Given the description of an element on the screen output the (x, y) to click on. 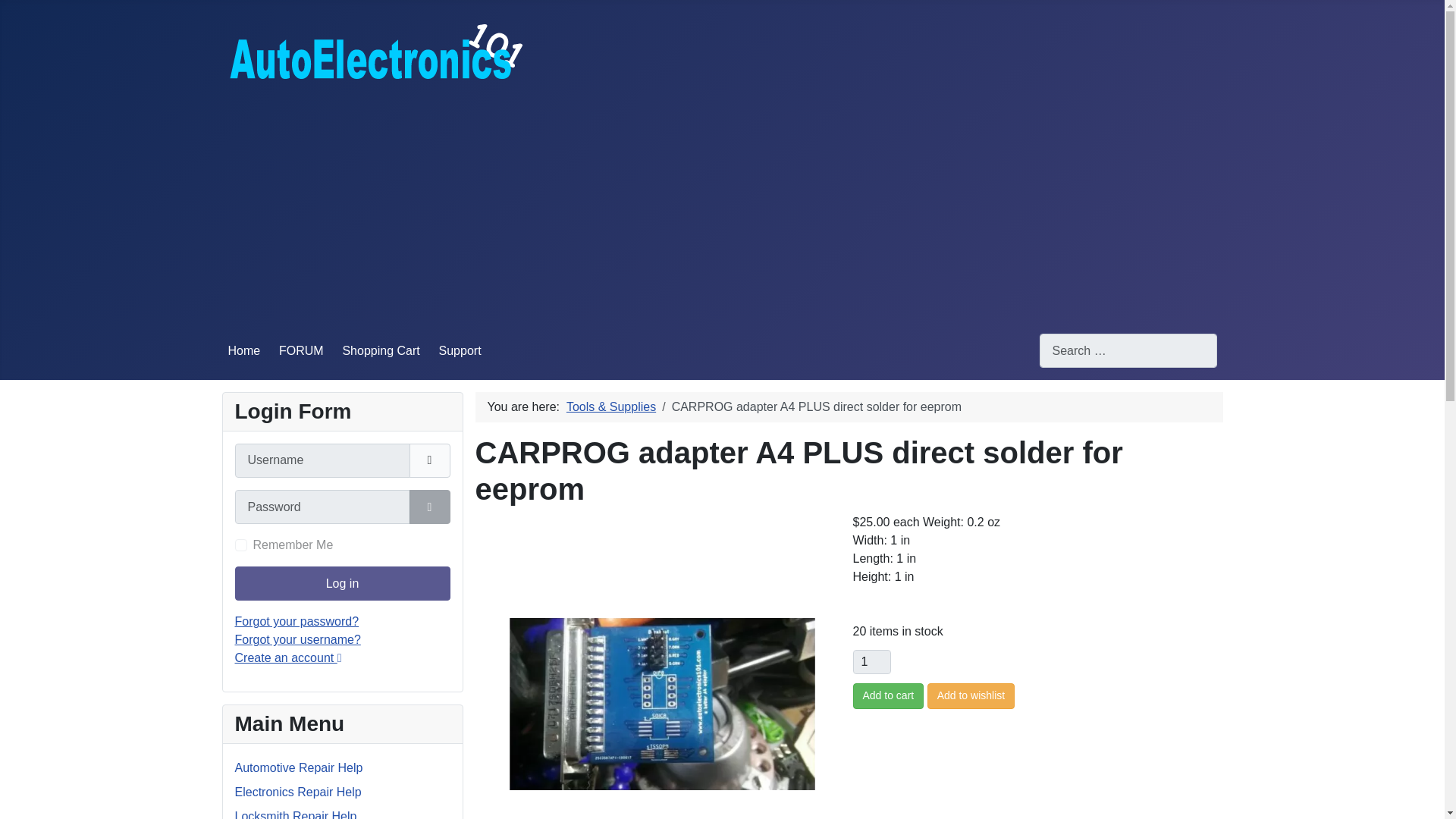
Add to cart (887, 696)
Log in (341, 583)
Forgot your username? (297, 639)
Support (460, 350)
Forgot your password? (296, 621)
FORUM (301, 350)
Locksmith Repair Help (295, 814)
Show Password (429, 506)
Username (429, 460)
